Given the description of an element on the screen output the (x, y) to click on. 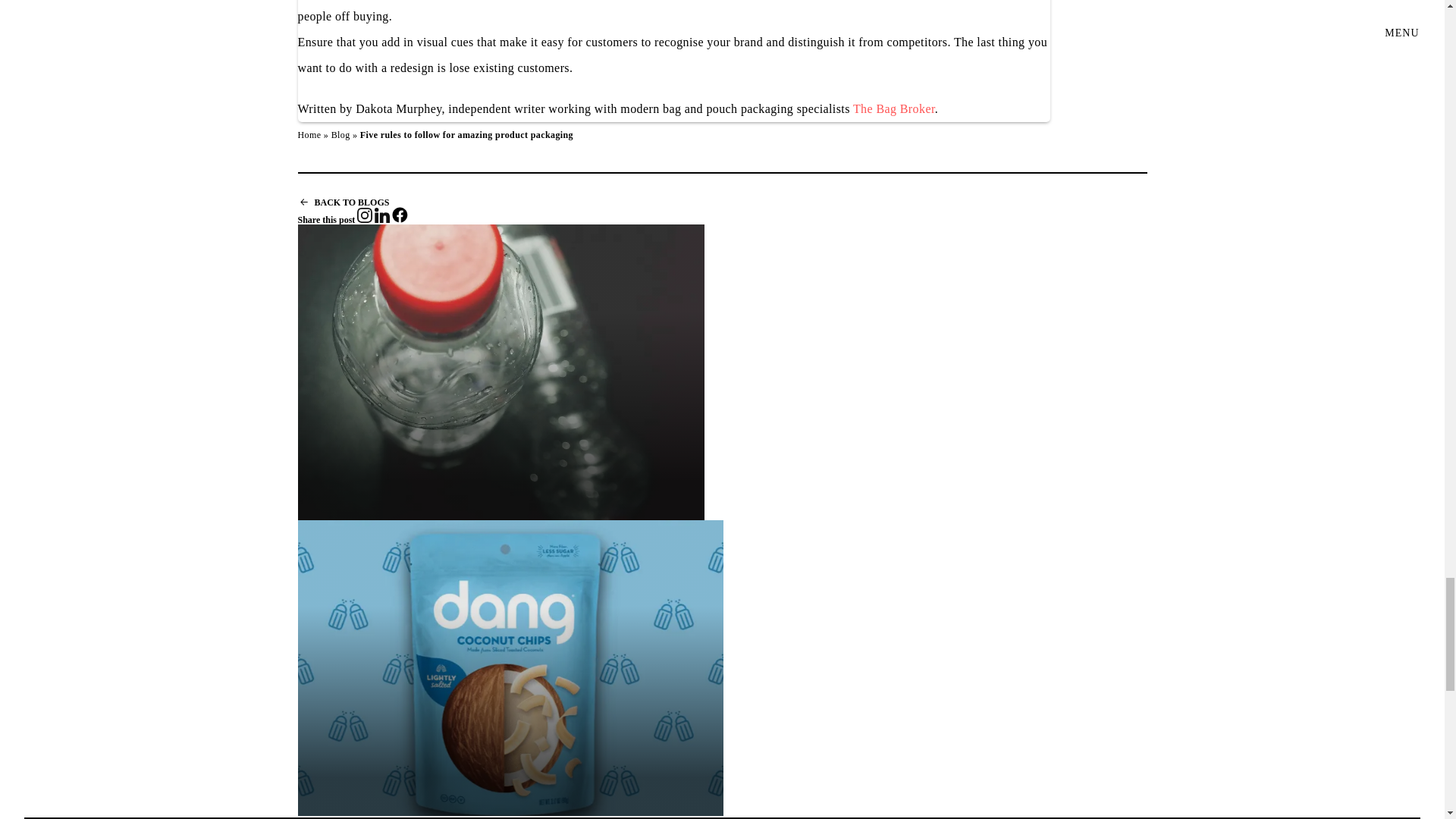
Home (308, 134)
Blog (340, 134)
The Bag Broker (893, 108)
BACK TO BLOGS (342, 202)
